Given the description of an element on the screen output the (x, y) to click on. 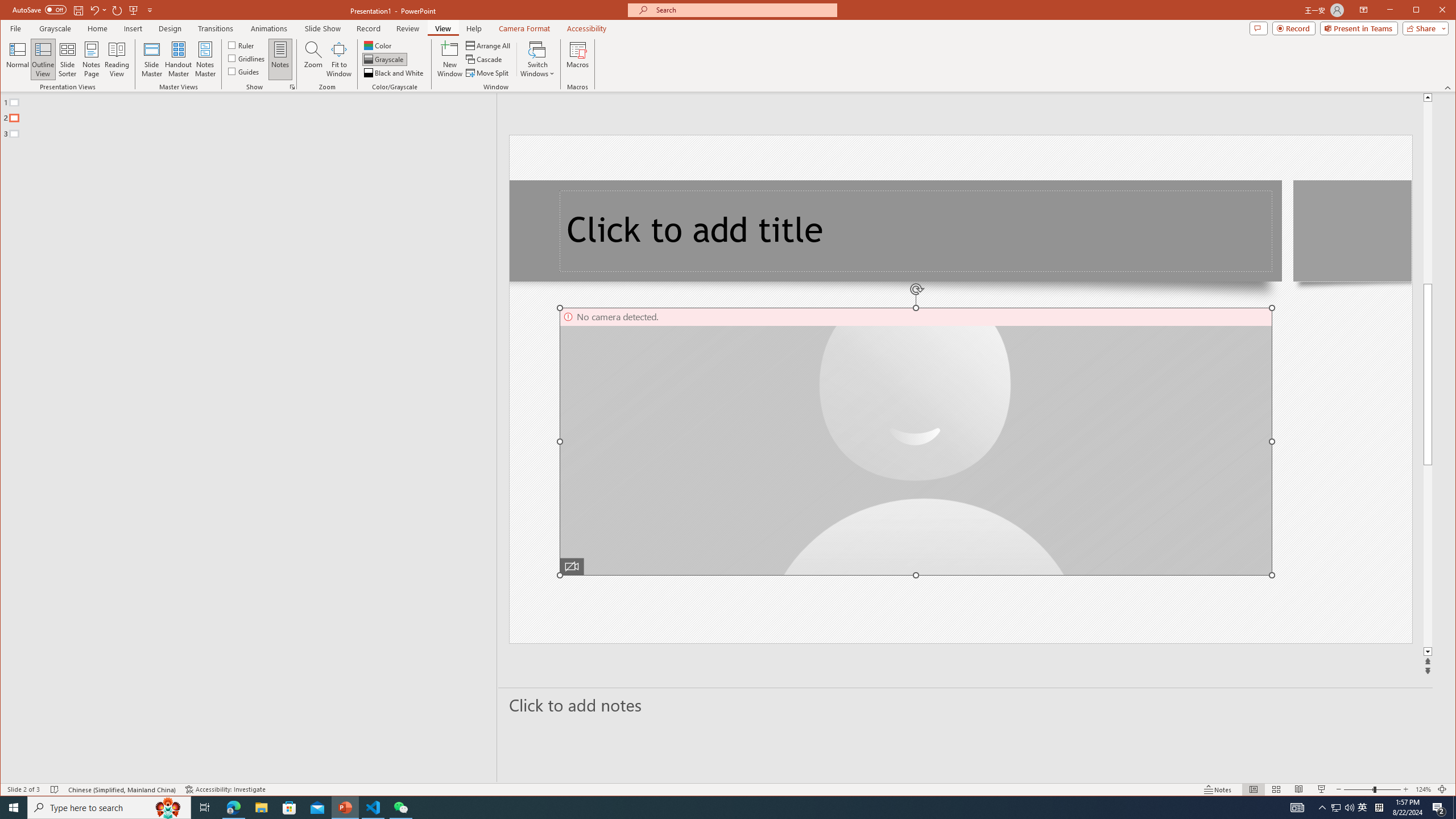
User Promoted Notification Area (1342, 807)
Rectangle (242, 436)
Outline View (42, 59)
Slide Master (151, 59)
Guides (243, 70)
Type here to search (108, 807)
Start (13, 807)
Action Center, 2 new notifications (1439, 807)
